Given the description of an element on the screen output the (x, y) to click on. 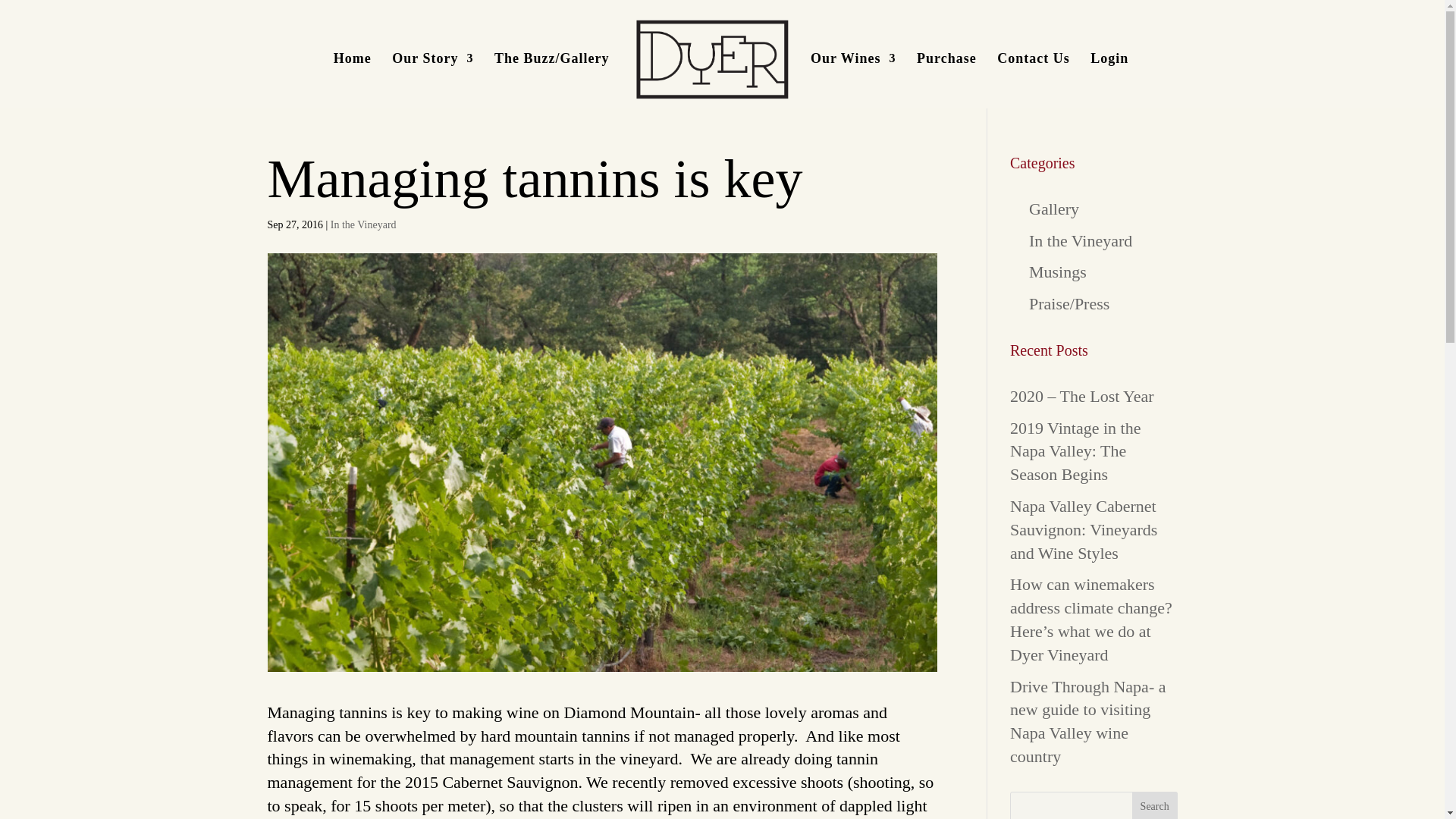
Our Story (432, 80)
Purchase (946, 80)
In the Vineyard (363, 224)
Contact Us (1033, 80)
Our Wines (853, 80)
Napa Valley Cabernet Sauvignon: Vineyards and Wine Styles (1083, 529)
Purchase (946, 80)
In the Vineyard (1080, 240)
Our Wines (853, 80)
Gallery (1053, 208)
2019 Vintage in the Napa Valley: The Season Begins (1075, 451)
Search (1154, 805)
Contact Us (1033, 80)
Our Story (432, 80)
